Given the description of an element on the screen output the (x, y) to click on. 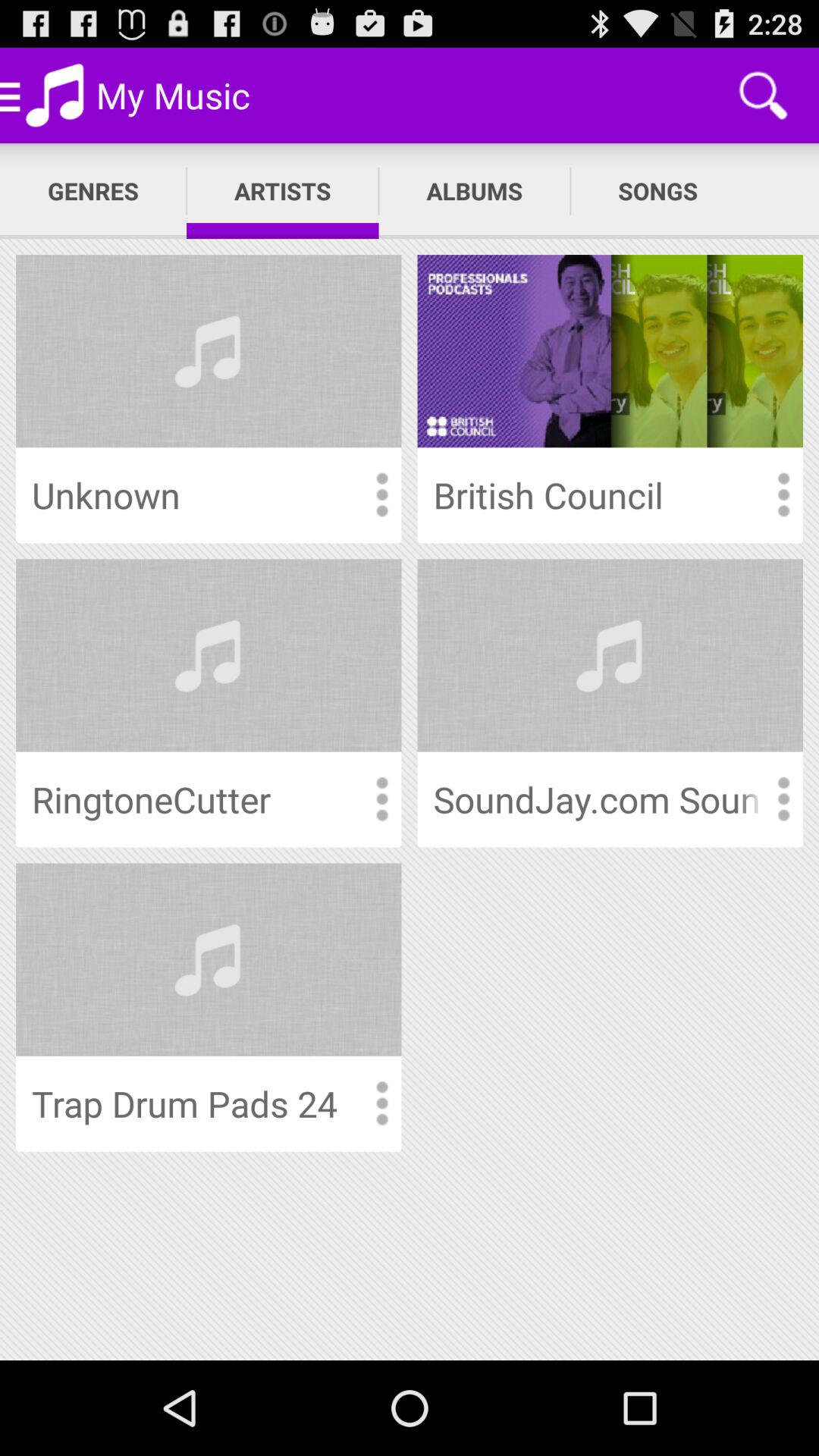
launch icon to the right of the artists icon (474, 190)
